Given the description of an element on the screen output the (x, y) to click on. 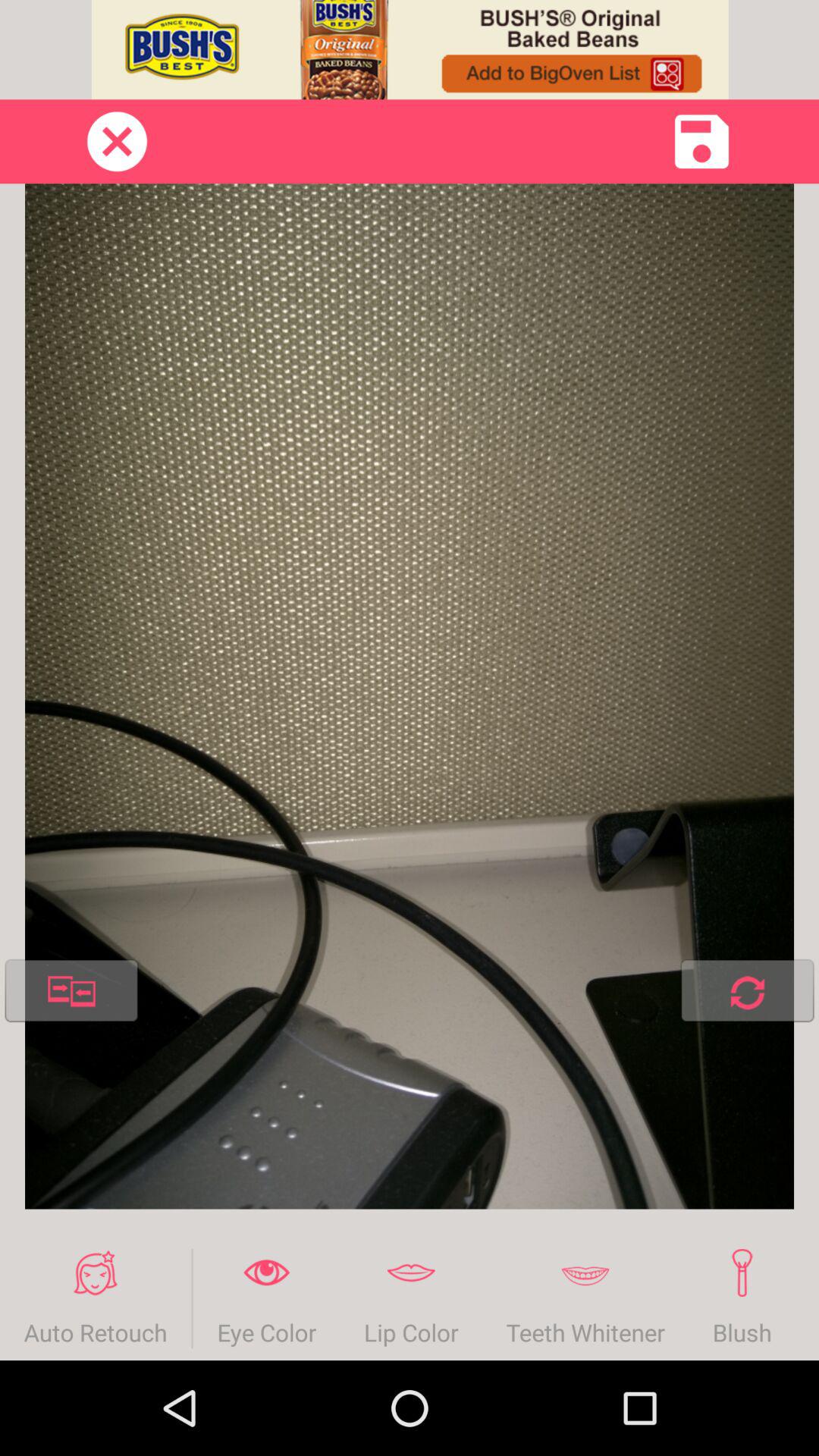
turn on the item above auto retouch icon (71, 994)
